Given the description of an element on the screen output the (x, y) to click on. 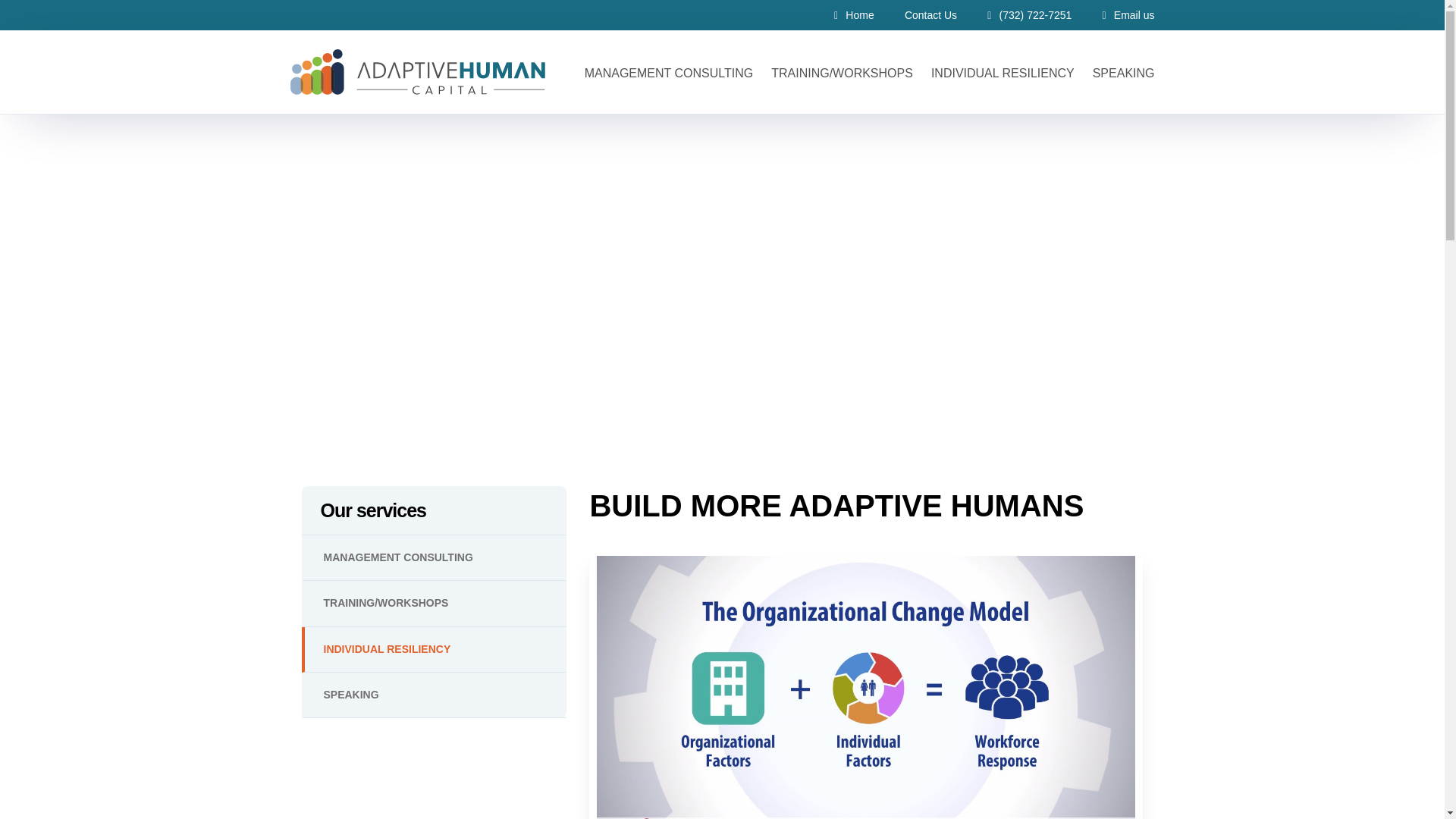
SPEAKING (434, 695)
INDIVIDUAL RESILIENCY (1002, 72)
Home (854, 15)
SPEAKING (1118, 72)
MANAGEMENT CONSULTING (668, 72)
INDIVIDUAL RESILIENCY (434, 648)
MANAGEMENT CONSULTING (434, 557)
Contact Us (930, 15)
Email us (1128, 15)
